Given the description of an element on the screen output the (x, y) to click on. 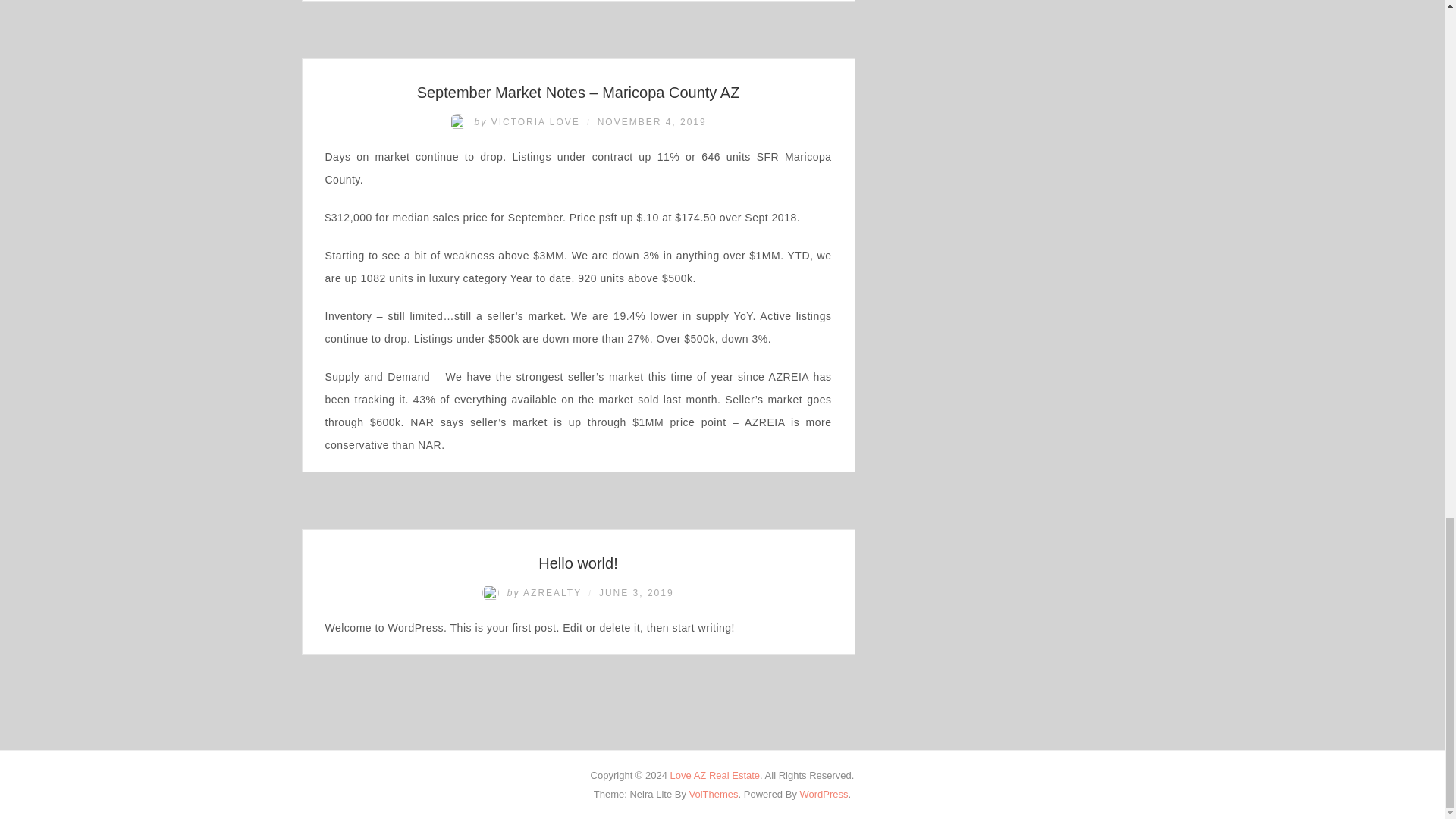
by AZREALTY (533, 593)
Hello world! (577, 563)
NOVEMBER 4, 2019 (651, 122)
by VICTORIA LOVE (516, 122)
VolThemes (713, 794)
JUNE 3, 2019 (636, 593)
VolThemes (713, 794)
WordPress (823, 794)
Love AZ Real Estate (714, 775)
Love AZ Real Estate (714, 775)
